Given the description of an element on the screen output the (x, y) to click on. 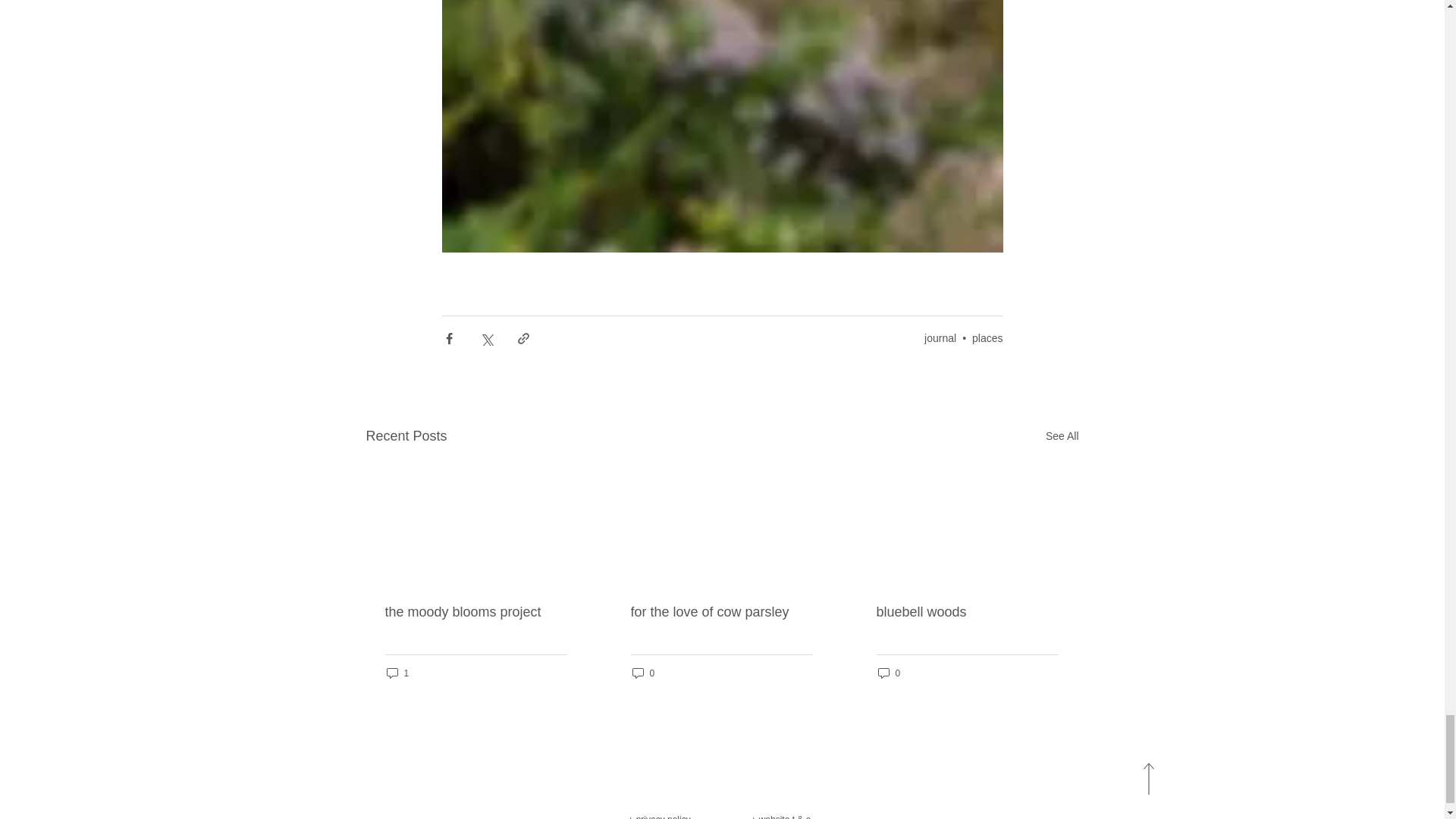
places (987, 337)
journal (940, 337)
bluebell woods (967, 611)
the moody blooms project (476, 611)
1 (397, 672)
See All (1061, 436)
for the love of cow parsley (721, 611)
0 (889, 672)
0 (643, 672)
